Given the description of an element on the screen output the (x, y) to click on. 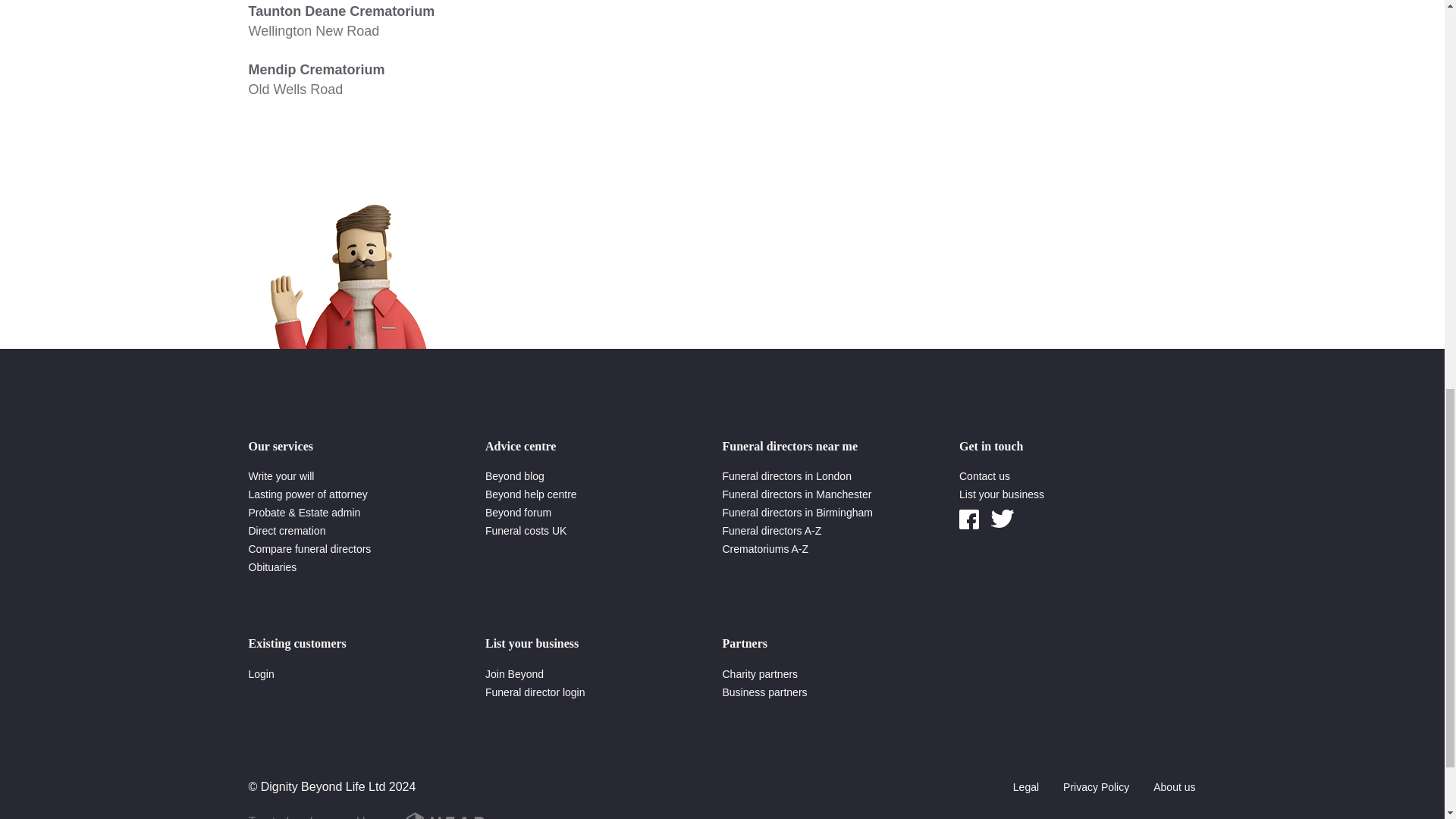
Write your will (560, 79)
Lasting power of attorney (281, 476)
